Given the description of an element on the screen output the (x, y) to click on. 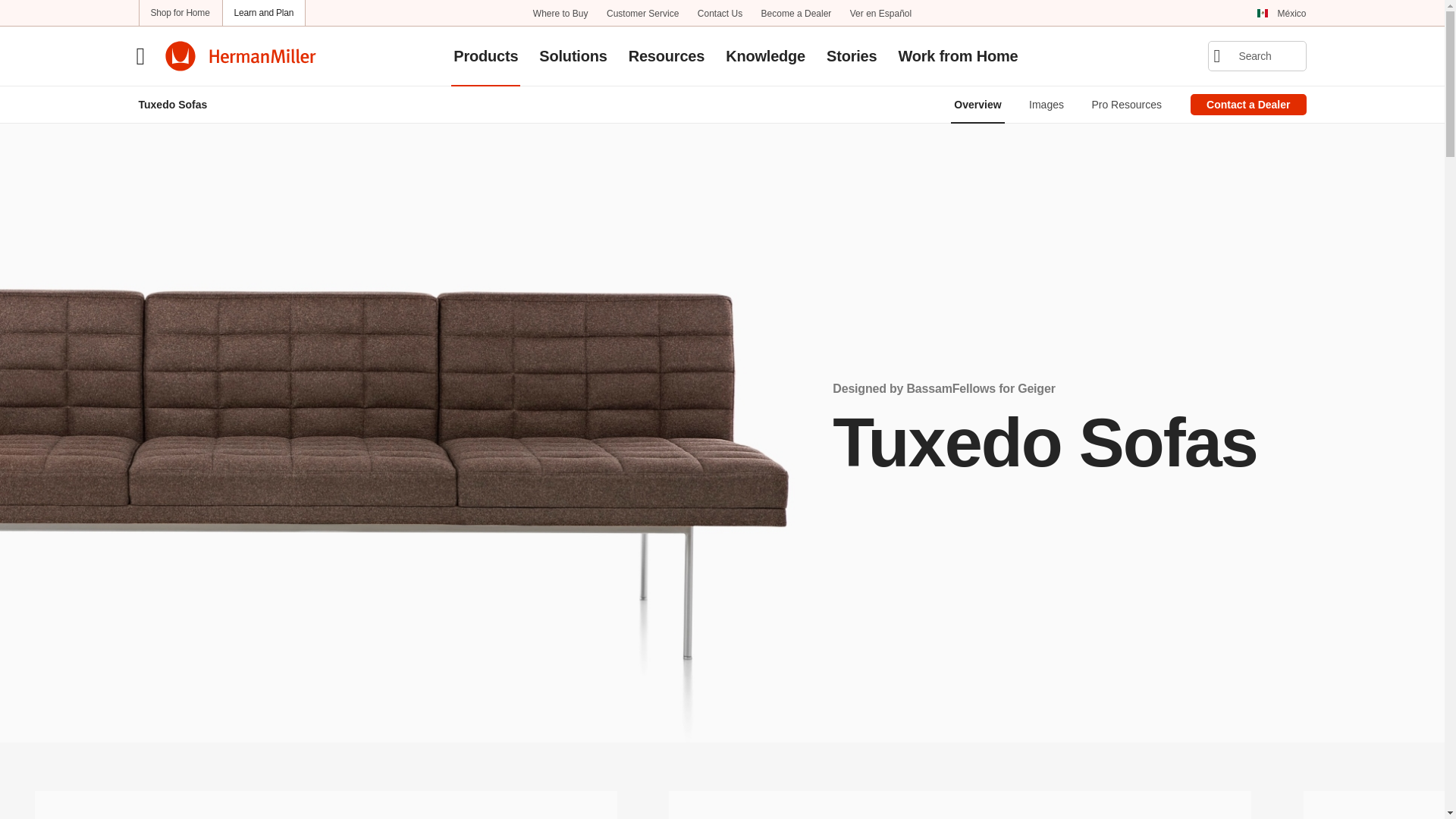
Solutions (572, 55)
Learn and Plan (263, 12)
Products (485, 55)
Where to Buy (560, 12)
Mexico.png (1262, 13)
Knowledge (764, 55)
Customer Service (642, 12)
Shop for Home (180, 12)
Resources (665, 55)
Contact Us (719, 12)
Work from Home (957, 55)
Stories (850, 55)
Herman Miller (240, 55)
Become a Dealer (796, 12)
